Given the description of an element on the screen output the (x, y) to click on. 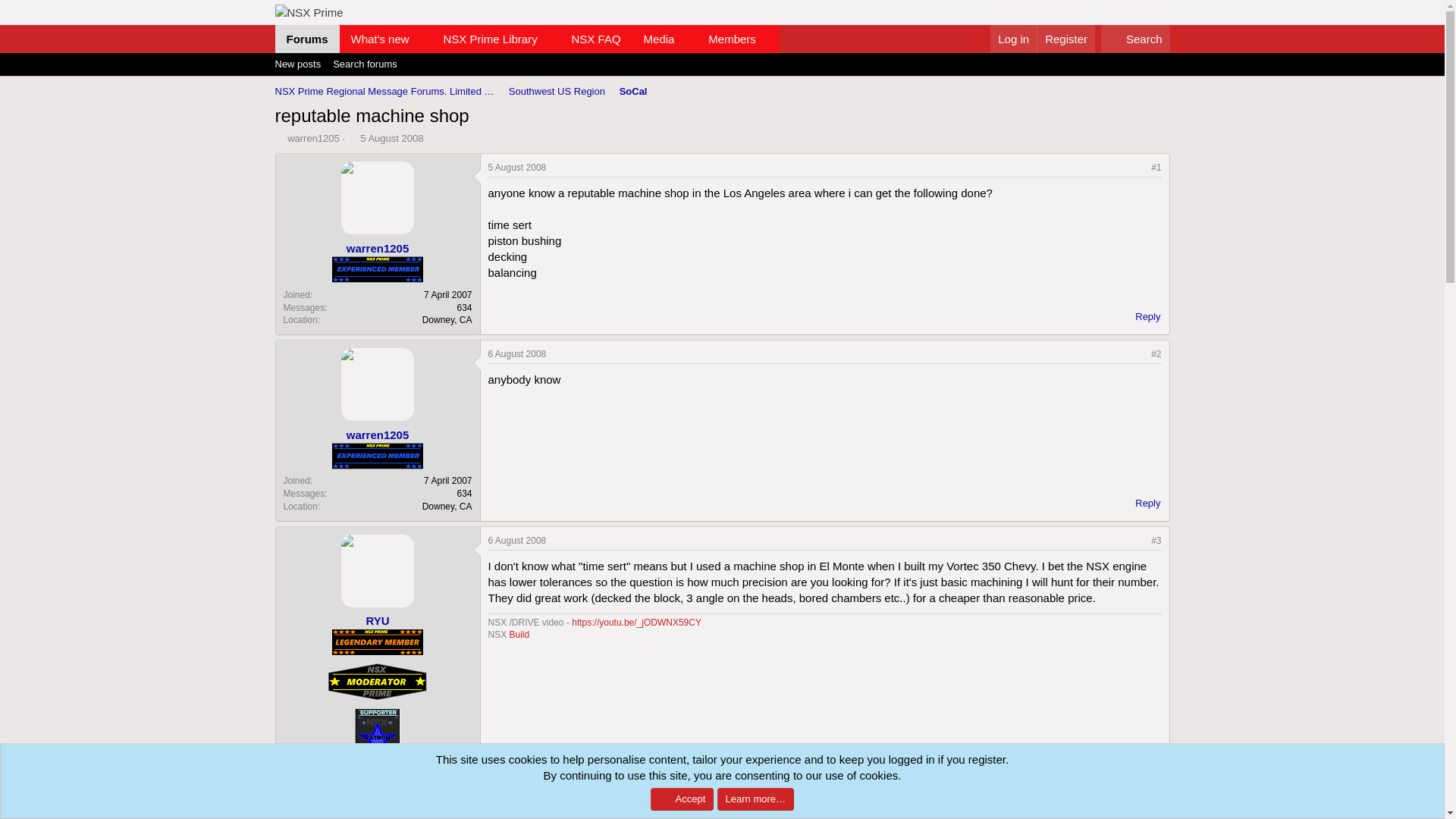
5 August 2008 at 12:13 AM (391, 138)
Search (1135, 39)
6 August 2008 at 6:30 AM (526, 39)
Media (517, 540)
Reply, quoting this message (654, 39)
Register (1141, 316)
Forums (1065, 39)
Members (307, 39)
What's new (727, 39)
